Given the description of an element on the screen output the (x, y) to click on. 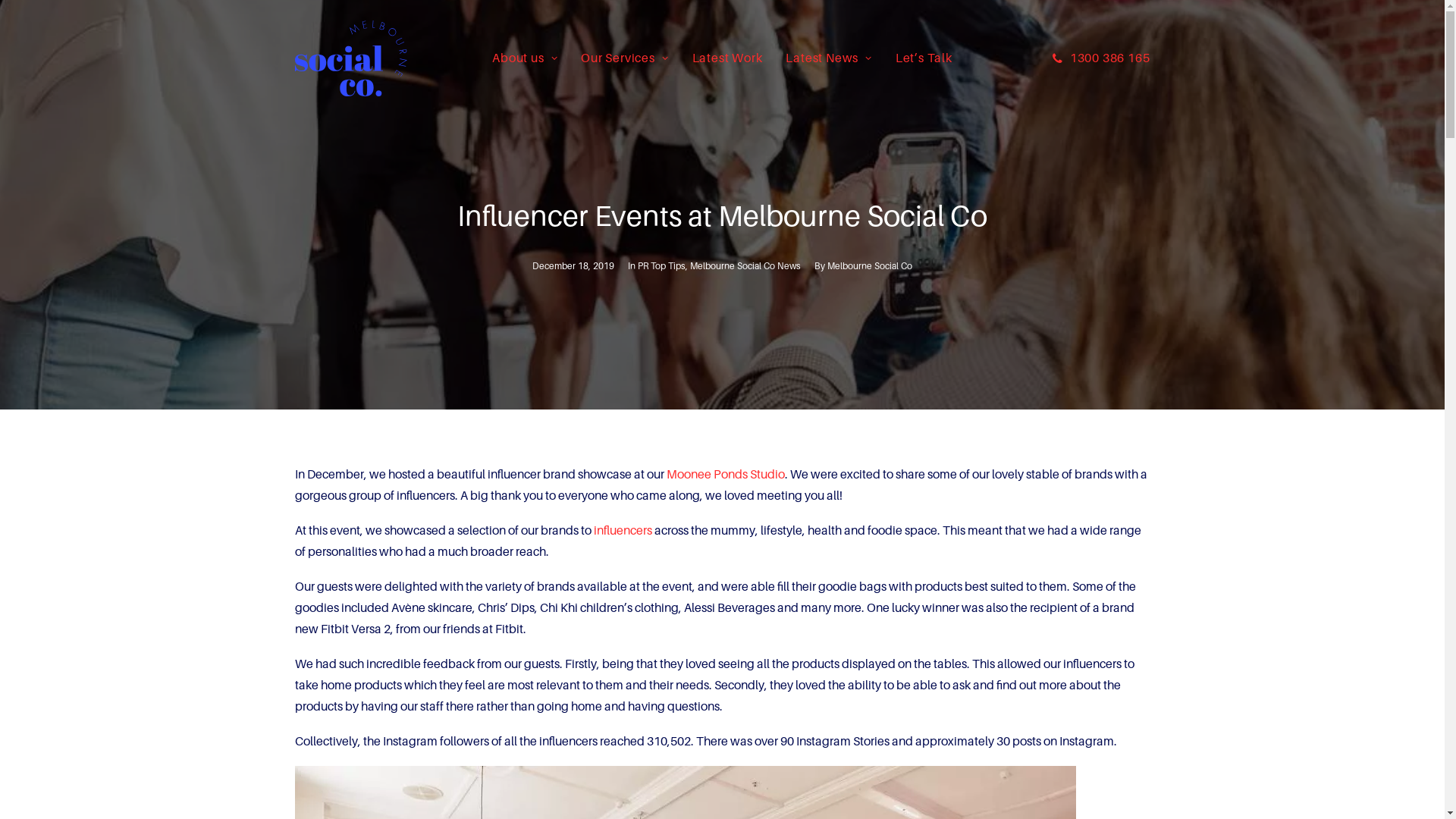
Melbourne Social Co Element type: text (869, 265)
1300 386 165 Element type: text (1100, 58)
Our Services Element type: text (624, 58)
Moonee Ponds Studio Element type: text (724, 474)
Latest News Element type: text (828, 58)
influencers Element type: text (622, 530)
PR Top Tips Element type: text (661, 265)
Melbourne Social Co News Element type: text (745, 265)
Latest Work Element type: text (727, 58)
About us Element type: text (524, 58)
